Given the description of an element on the screen output the (x, y) to click on. 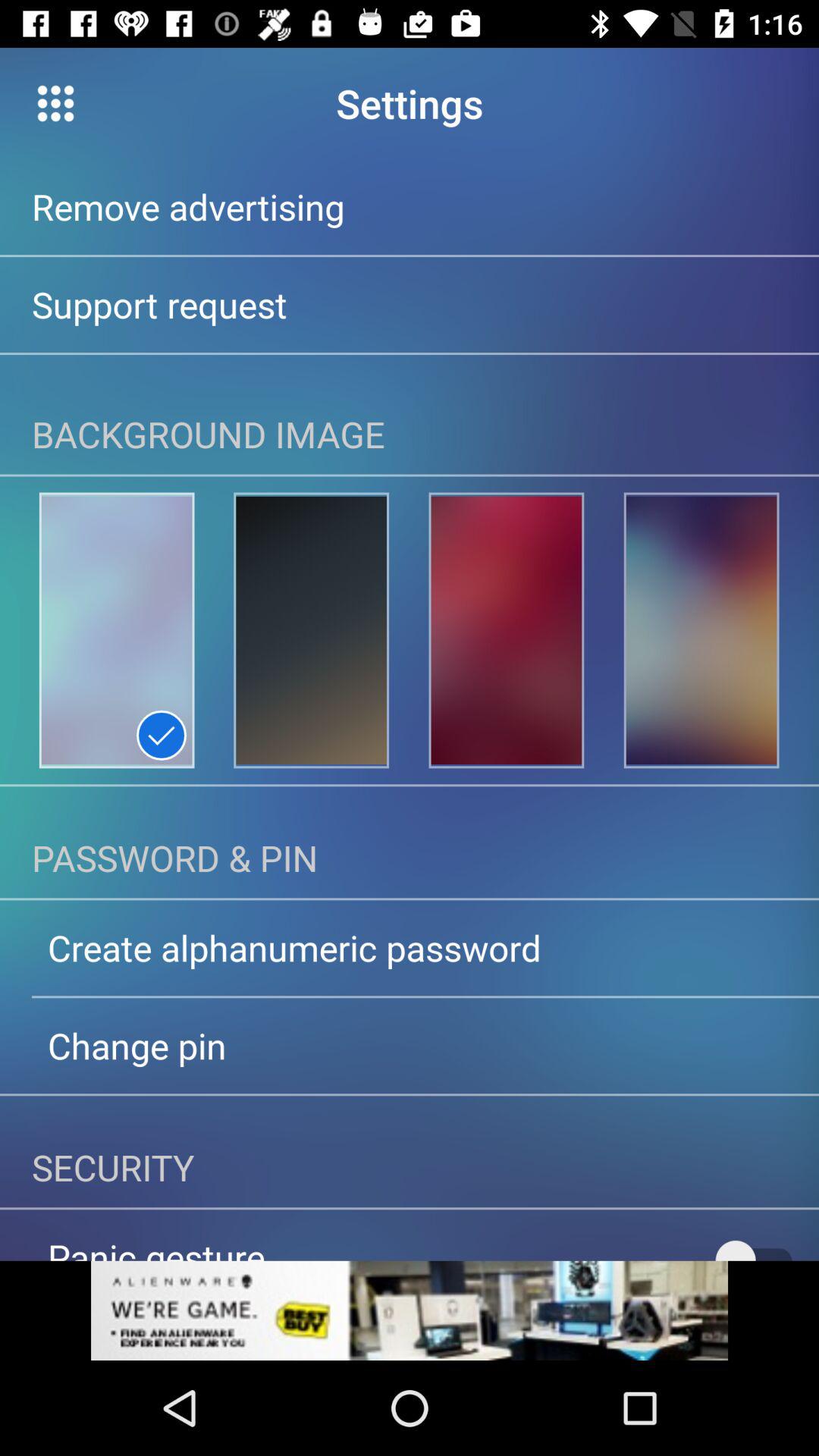
select option (409, 1310)
